Given the description of an element on the screen output the (x, y) to click on. 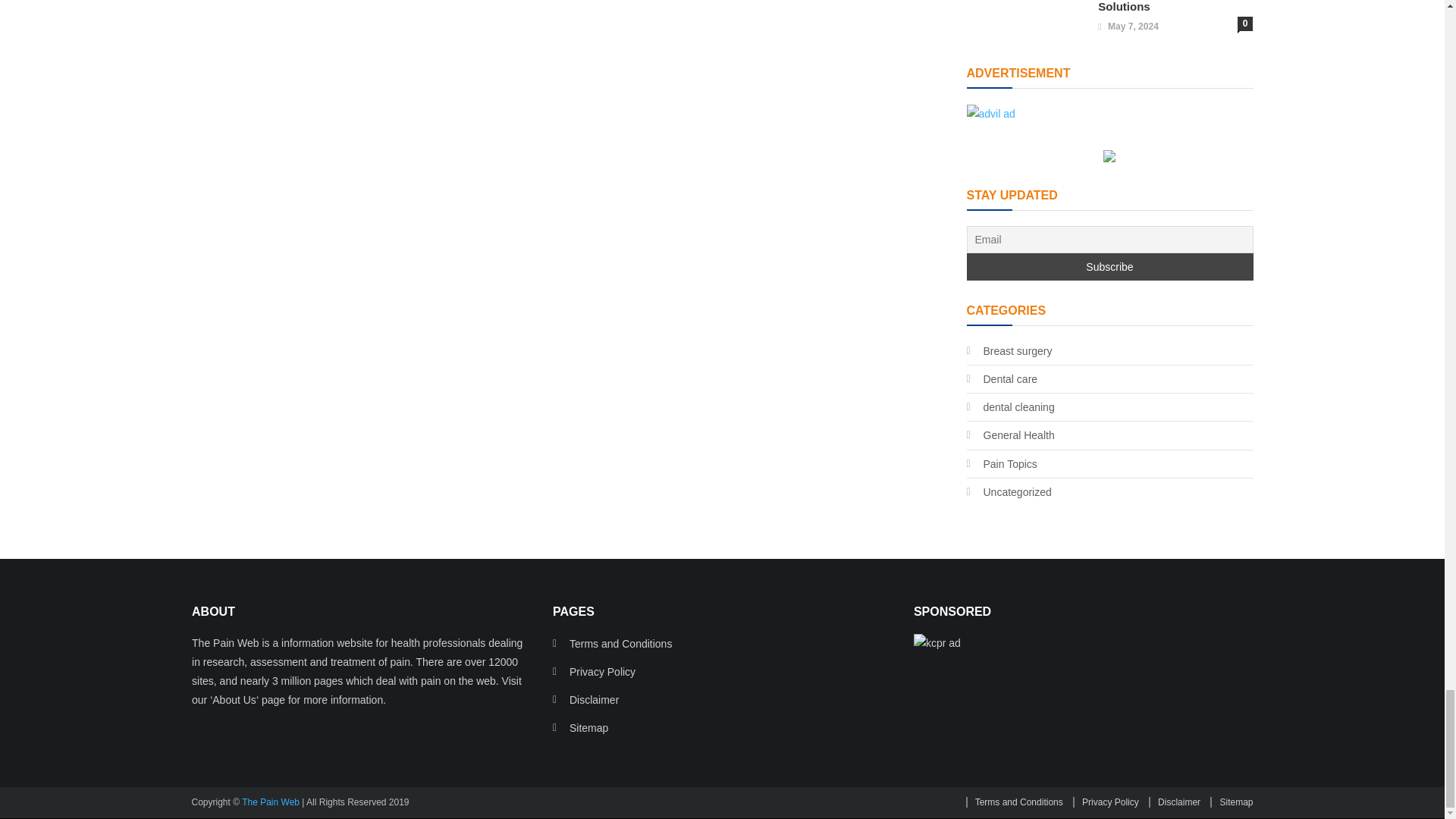
Blog topics about pain (1001, 464)
Subscribe (1109, 266)
